Given the description of an element on the screen output the (x, y) to click on. 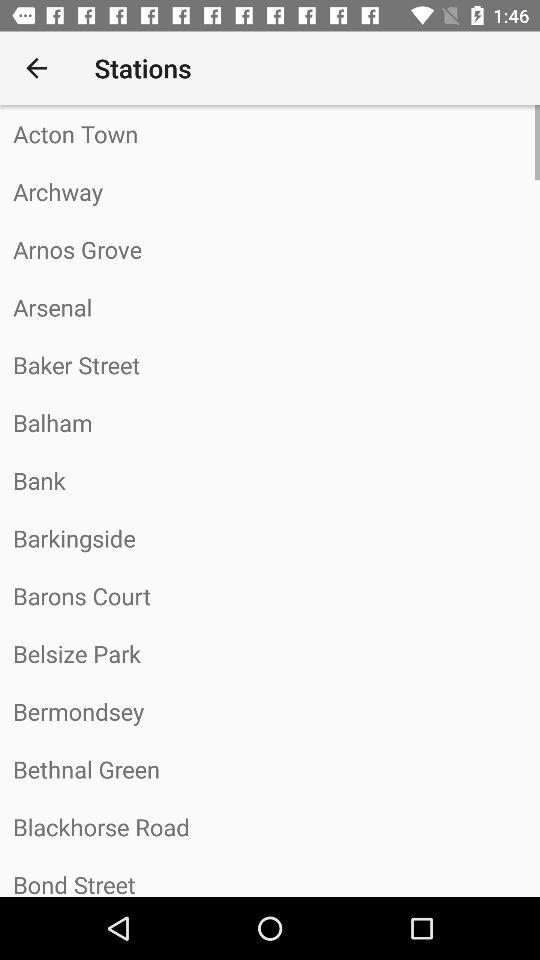
open the bermondsey item (270, 711)
